Given the description of an element on the screen output the (x, y) to click on. 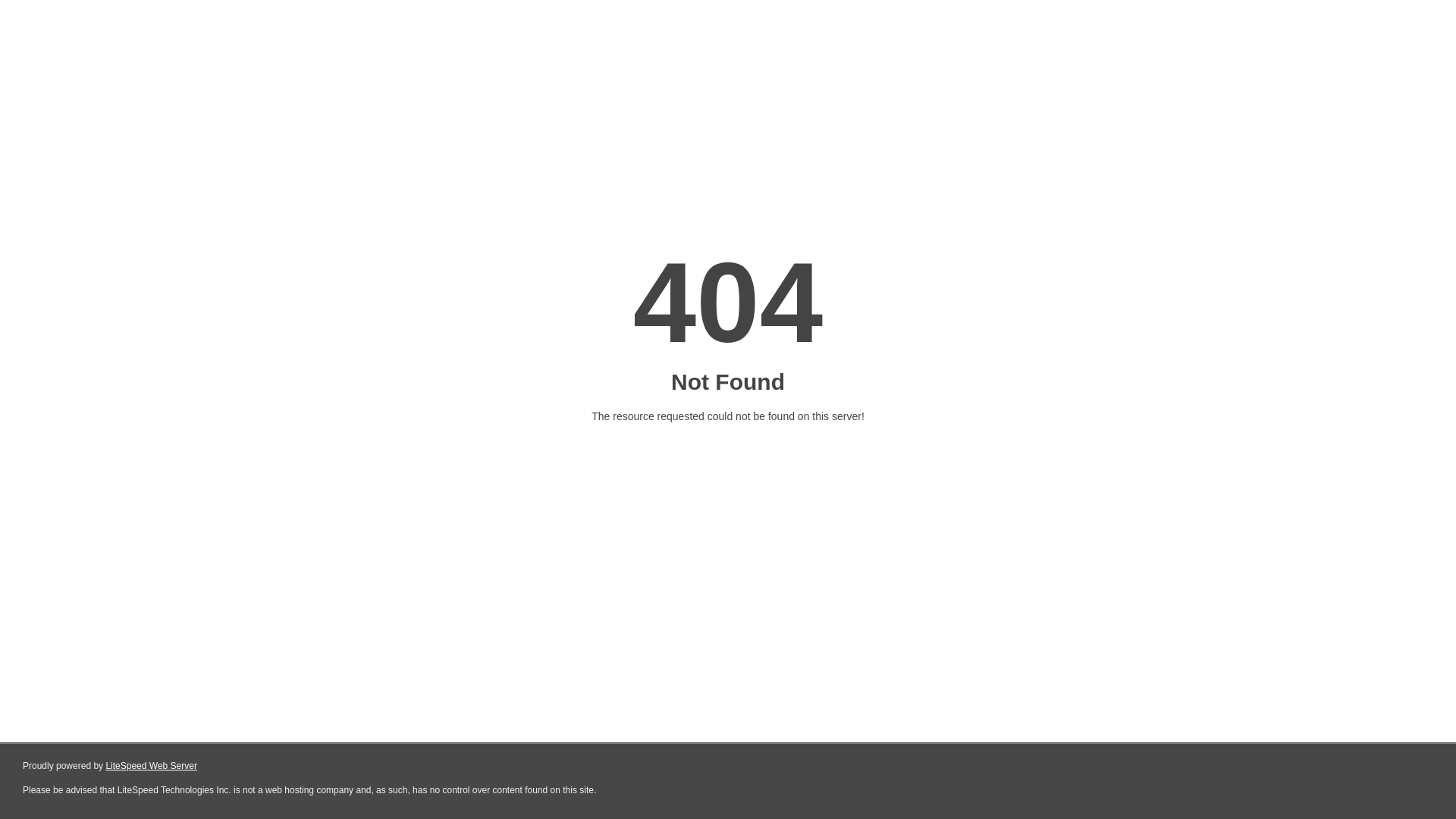
LiteSpeed Web Server Element type: text (151, 765)
